Given the description of an element on the screen output the (x, y) to click on. 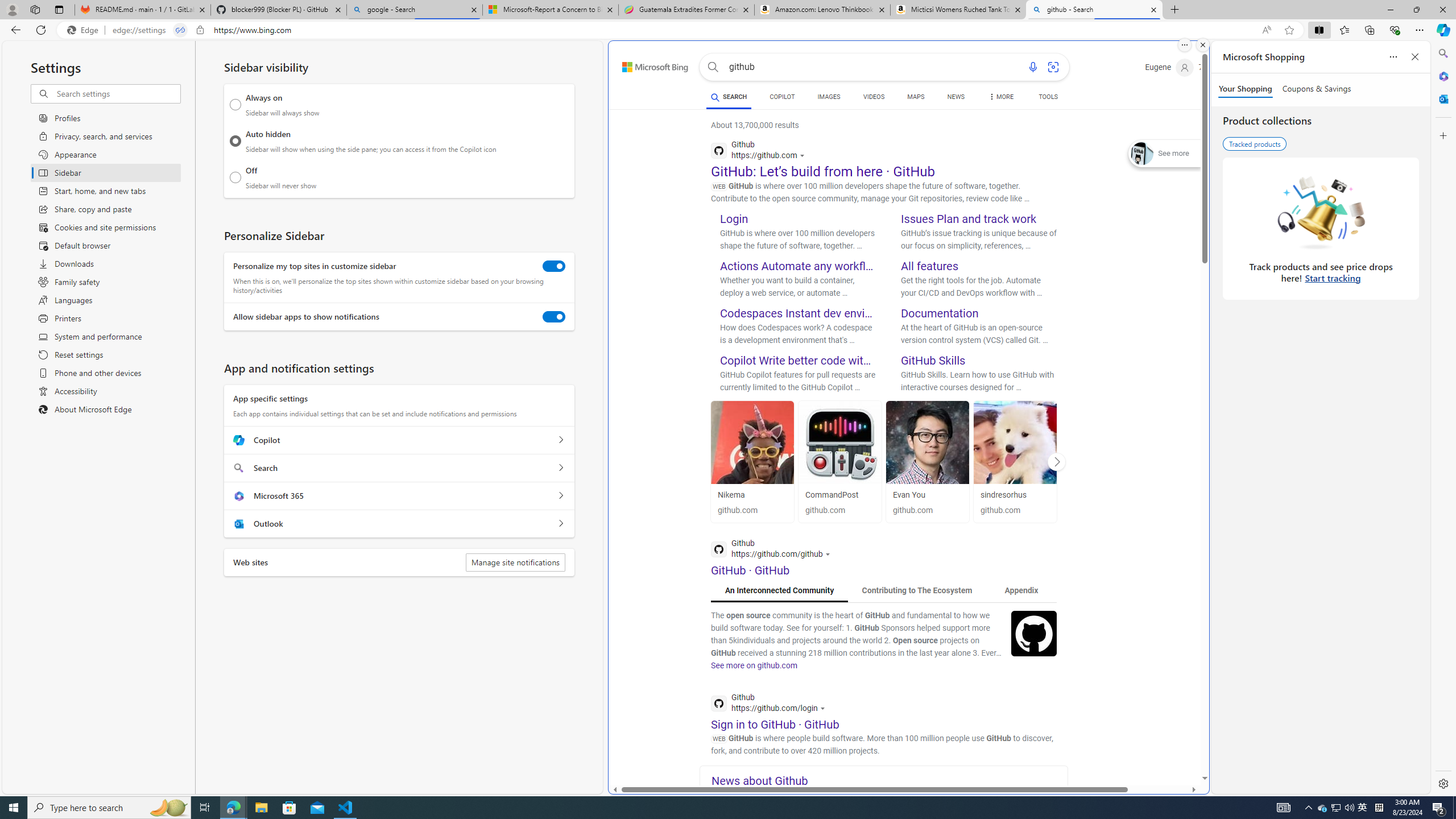
Evan You (909, 494)
CommandPost (832, 494)
COPILOT (781, 98)
All features (929, 265)
Search using voice (1032, 66)
An Interconnected Community (779, 590)
SEARCH (728, 96)
Search settings (117, 93)
TOOLS (1048, 96)
COPILOT (781, 96)
